Given the description of an element on the screen output the (x, y) to click on. 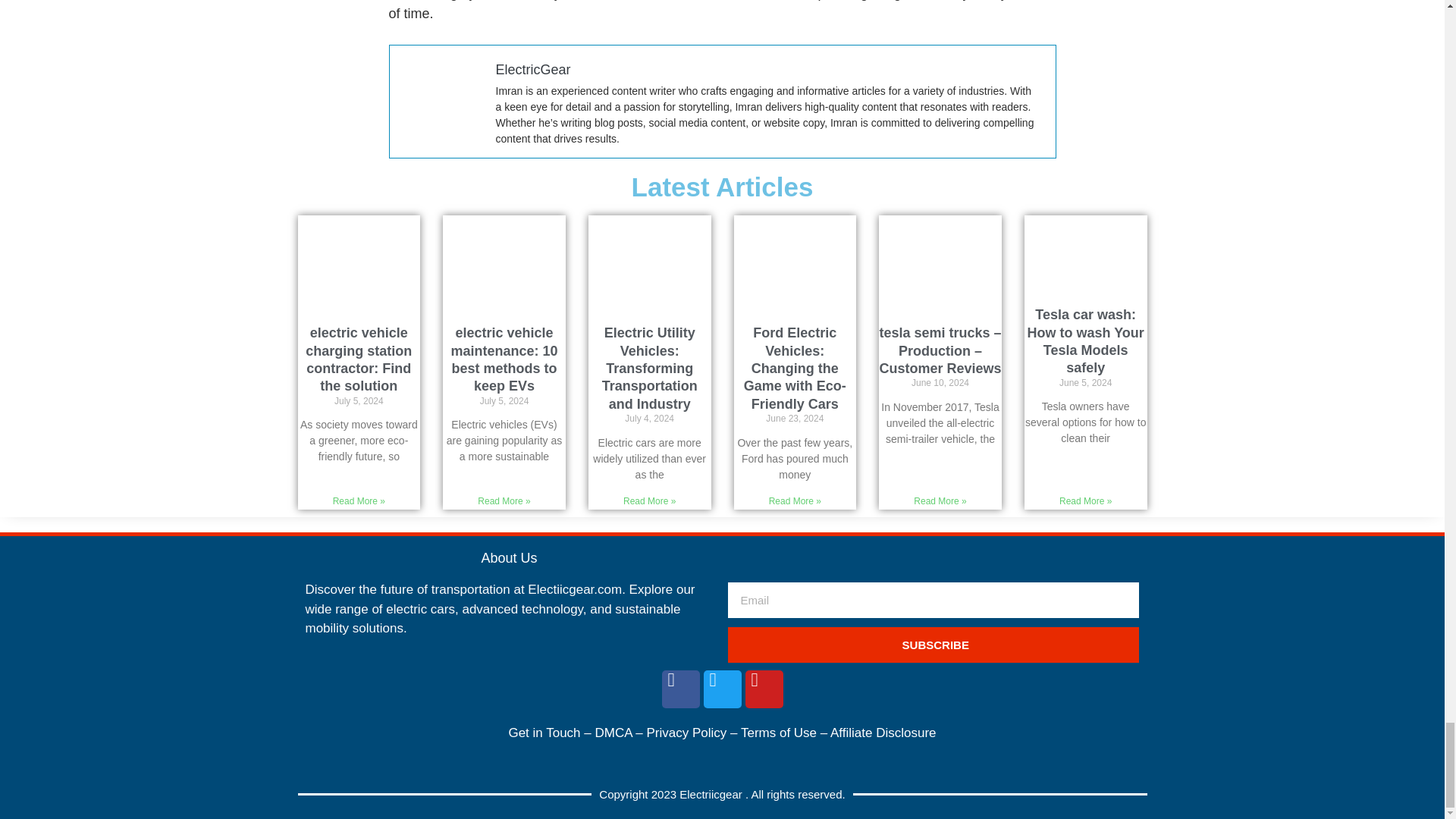
ElectricGear (533, 69)
electric vehicle maintenance: 10 best methods to keep EVs (503, 359)
